Given the description of an element on the screen output the (x, y) to click on. 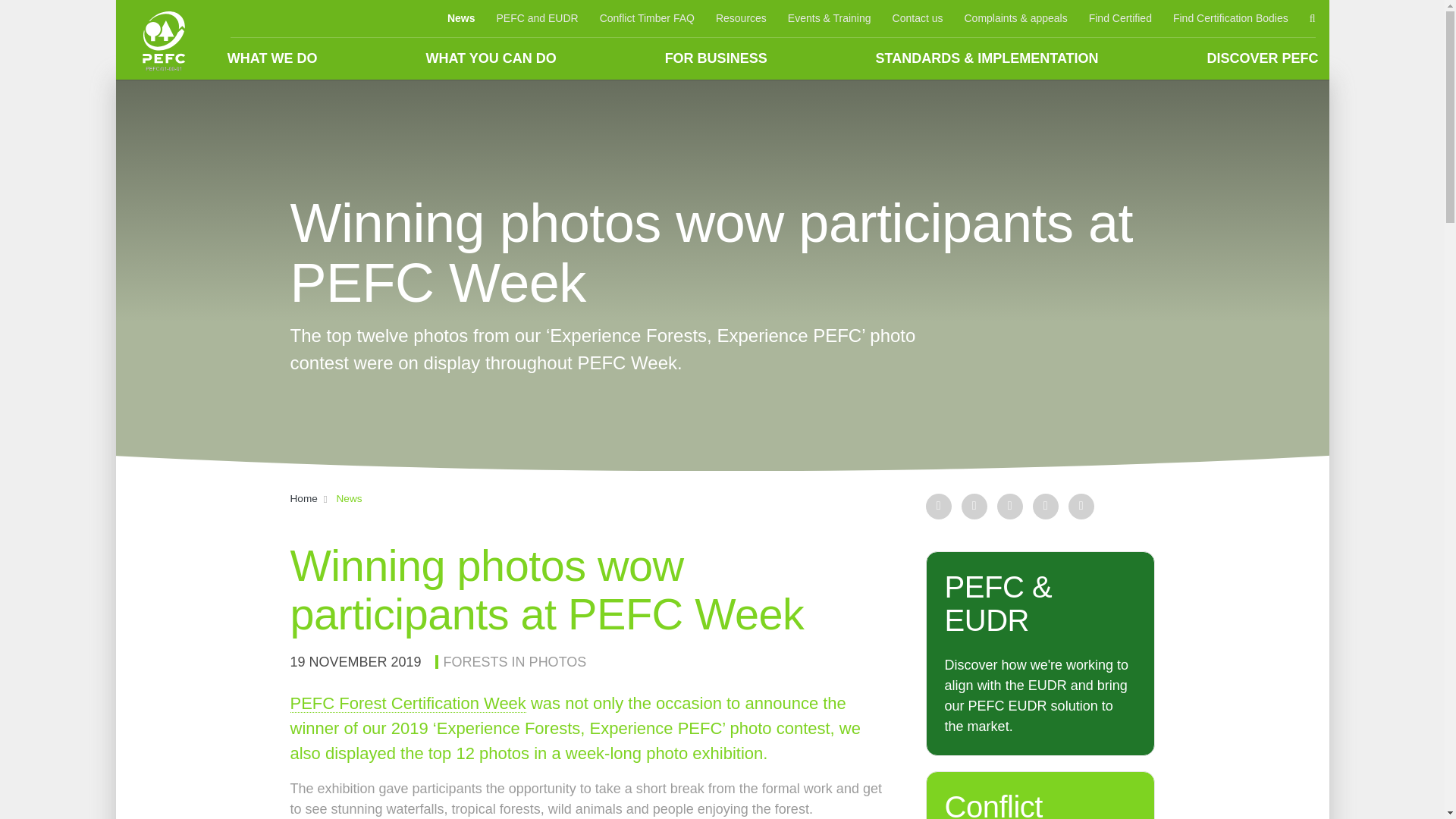
Find Certification Bodies (1229, 18)
PEFC and EUDR (536, 18)
News (461, 18)
Resources (740, 18)
WHAT YOU CAN DO (490, 58)
WHAT WE DO (272, 58)
Conflict Timber FAQ (646, 18)
Find Certified (1119, 18)
Contact us (917, 18)
